Given the description of an element on the screen output the (x, y) to click on. 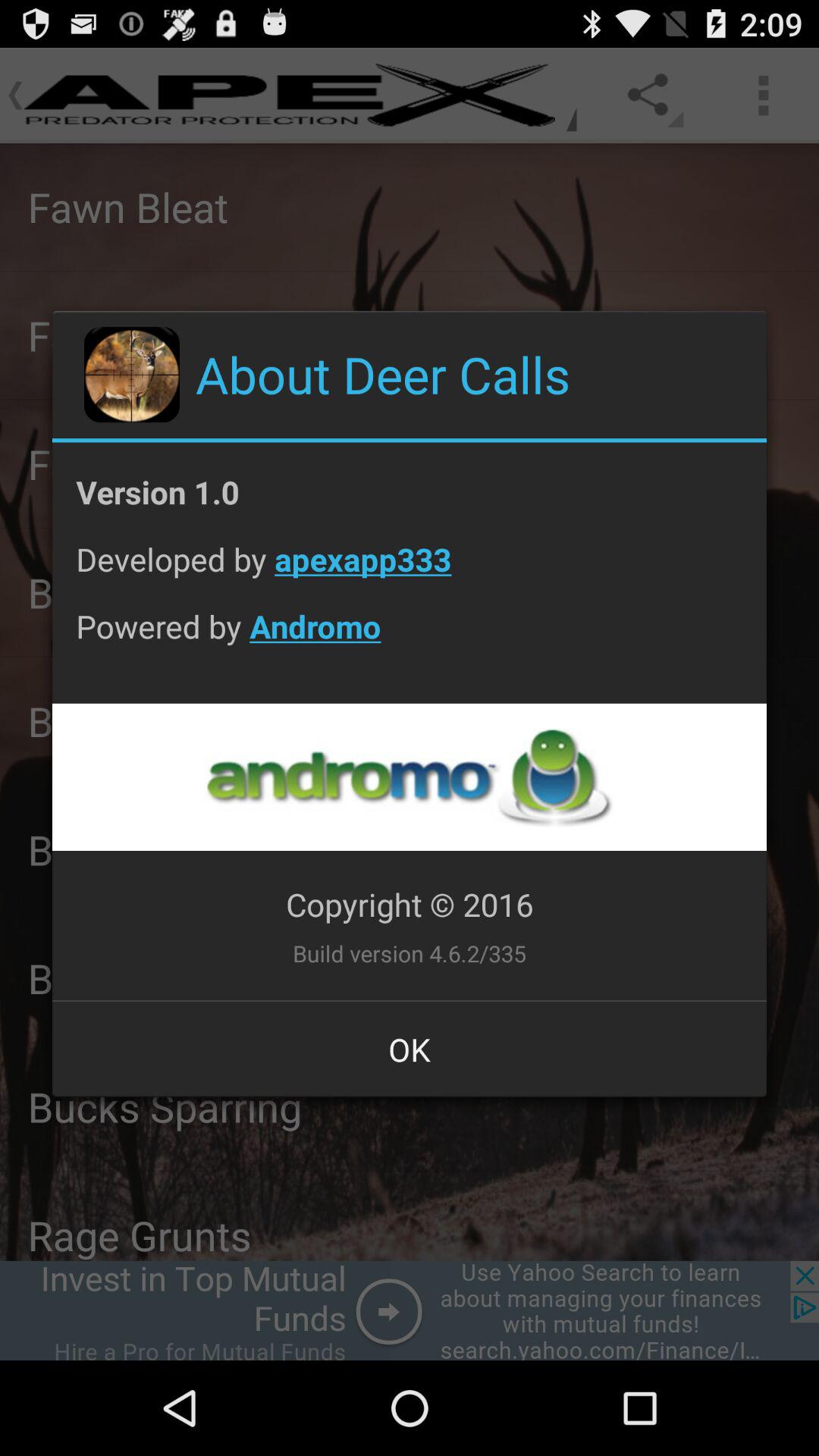
scroll until ok item (409, 1049)
